Given the description of an element on the screen output the (x, y) to click on. 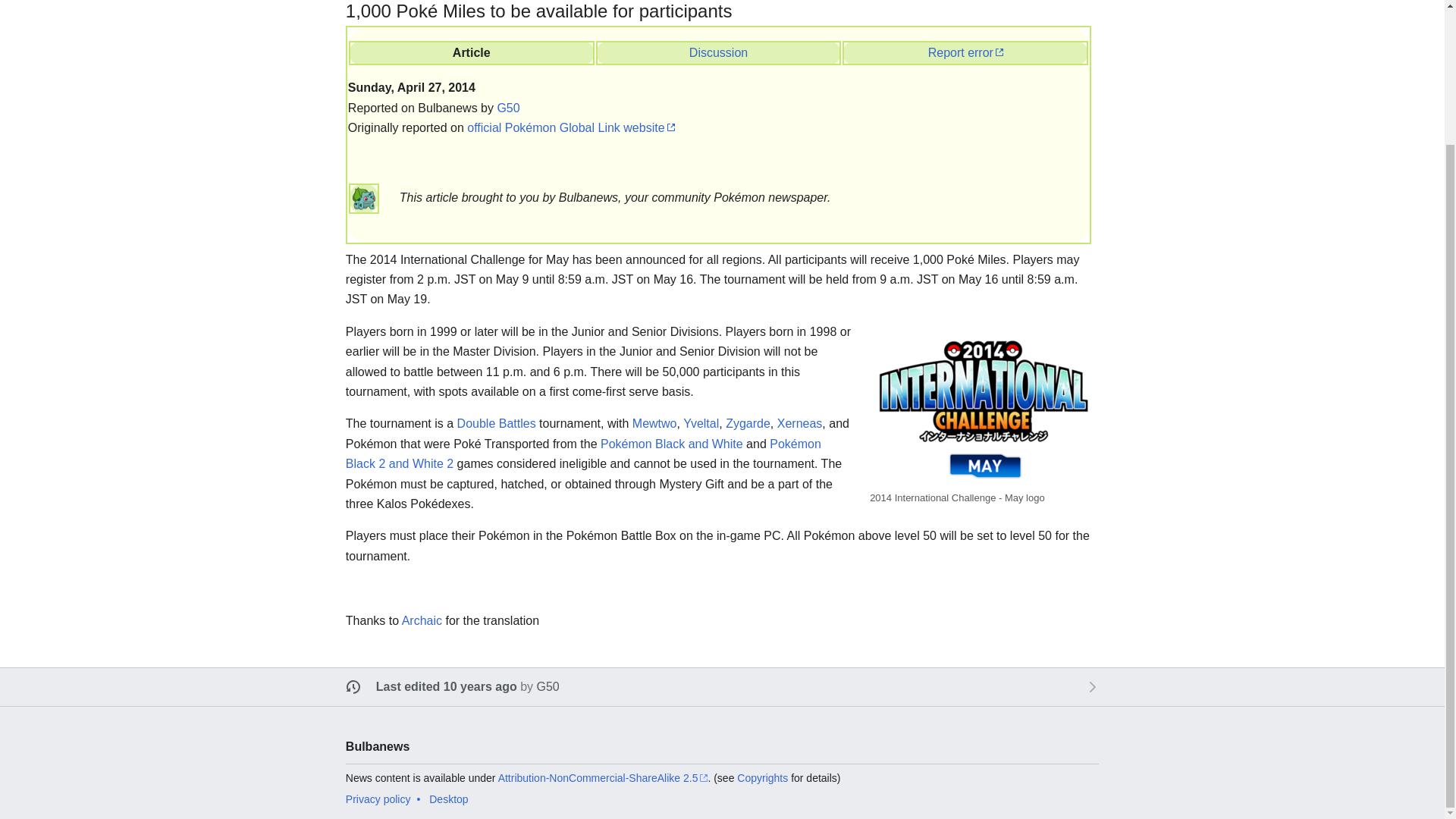
Copyrights (761, 777)
bmgf:165114 (718, 51)
Double Battles (496, 422)
Xerneas (799, 422)
User:G50 (507, 107)
Article (471, 51)
Zygarde (747, 422)
Mewtwo (654, 422)
Discussion (718, 51)
Archaic (421, 620)
